Given the description of an element on the screen output the (x, y) to click on. 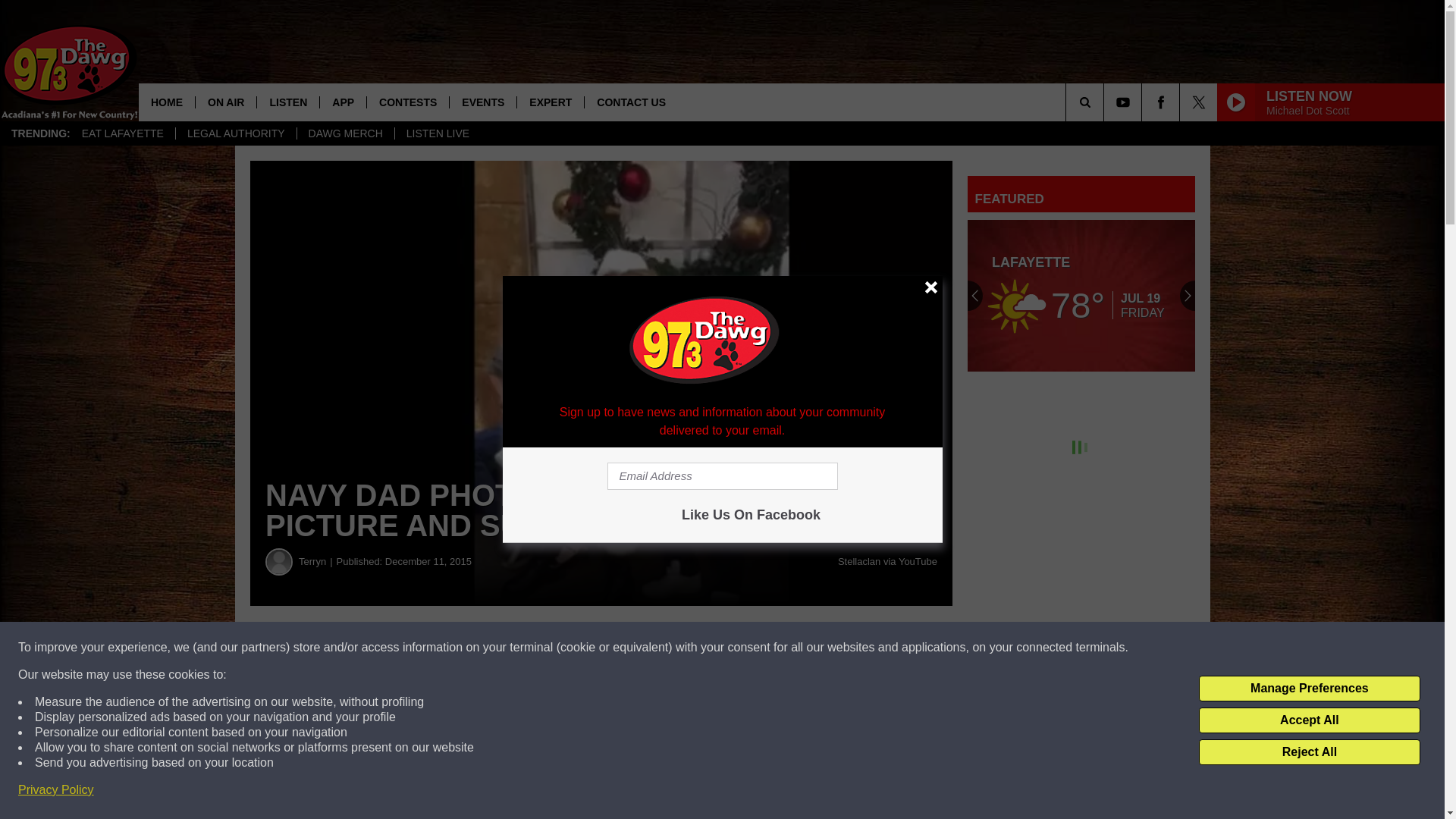
CONTESTS (407, 102)
LISTEN (287, 102)
Privacy Policy (55, 789)
EVENTS (482, 102)
Accept All (1309, 720)
Share on Facebook (460, 647)
Lafayette Weather (1081, 295)
APP (342, 102)
Email Address (722, 475)
Reject All (1309, 751)
HOME (166, 102)
LISTEN LIVE (437, 133)
Manage Preferences (1309, 688)
SEARCH (1106, 102)
SEARCH (1106, 102)
